Given the description of an element on the screen output the (x, y) to click on. 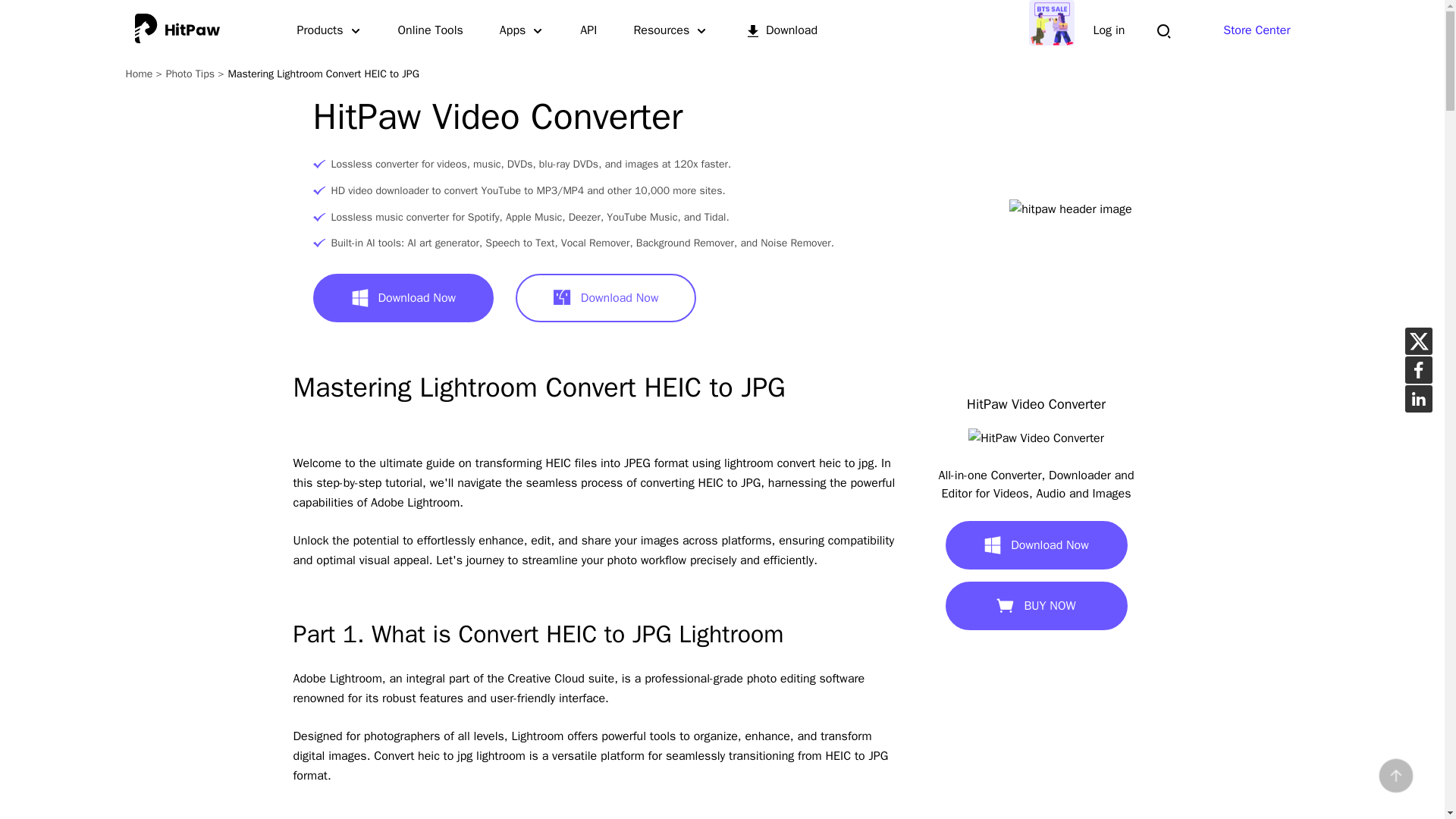
Products (329, 30)
Store Center (1256, 30)
Log in (1108, 30)
